Given the description of an element on the screen output the (x, y) to click on. 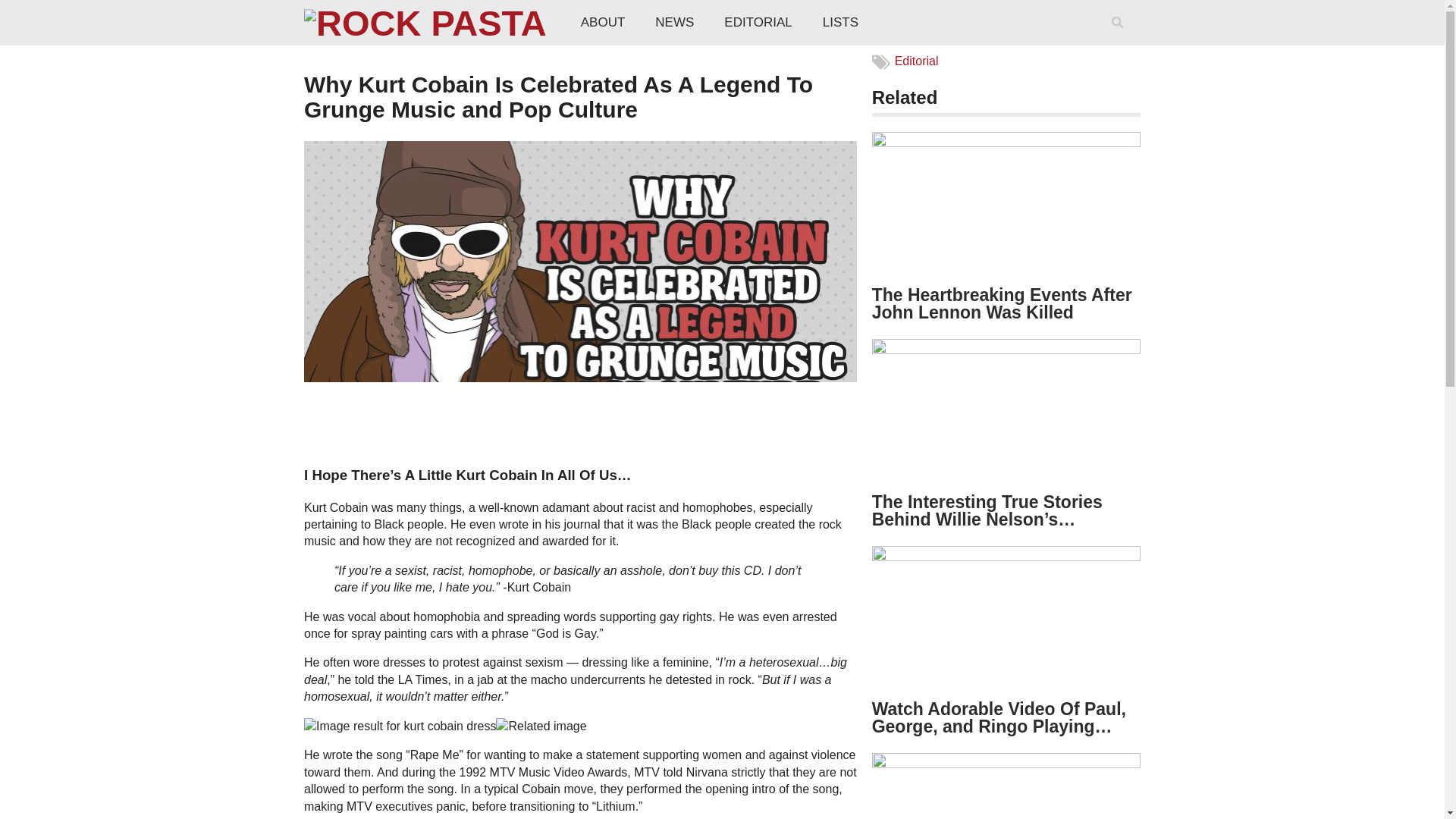
NEWS (674, 22)
ABOUT (603, 22)
EDITORIAL (757, 22)
Search (1120, 42)
Editorial (917, 60)
LISTS (840, 22)
The Heartbreaking Events After John Lennon Was Killed (1002, 303)
Search (1120, 42)
Search (1120, 42)
